Given the description of an element on the screen output the (x, y) to click on. 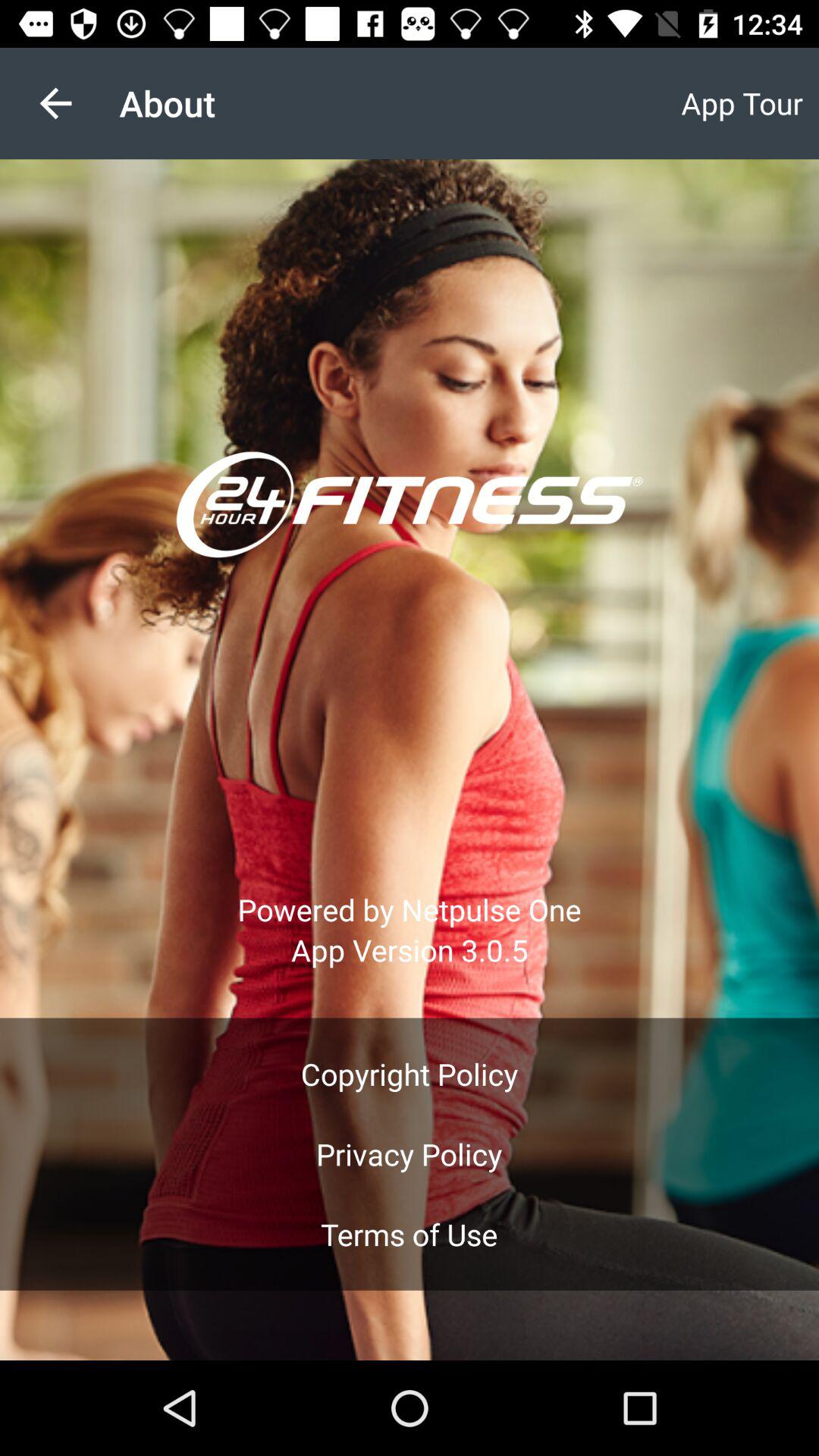
swipe until app tour icon (742, 103)
